Given the description of an element on the screen output the (x, y) to click on. 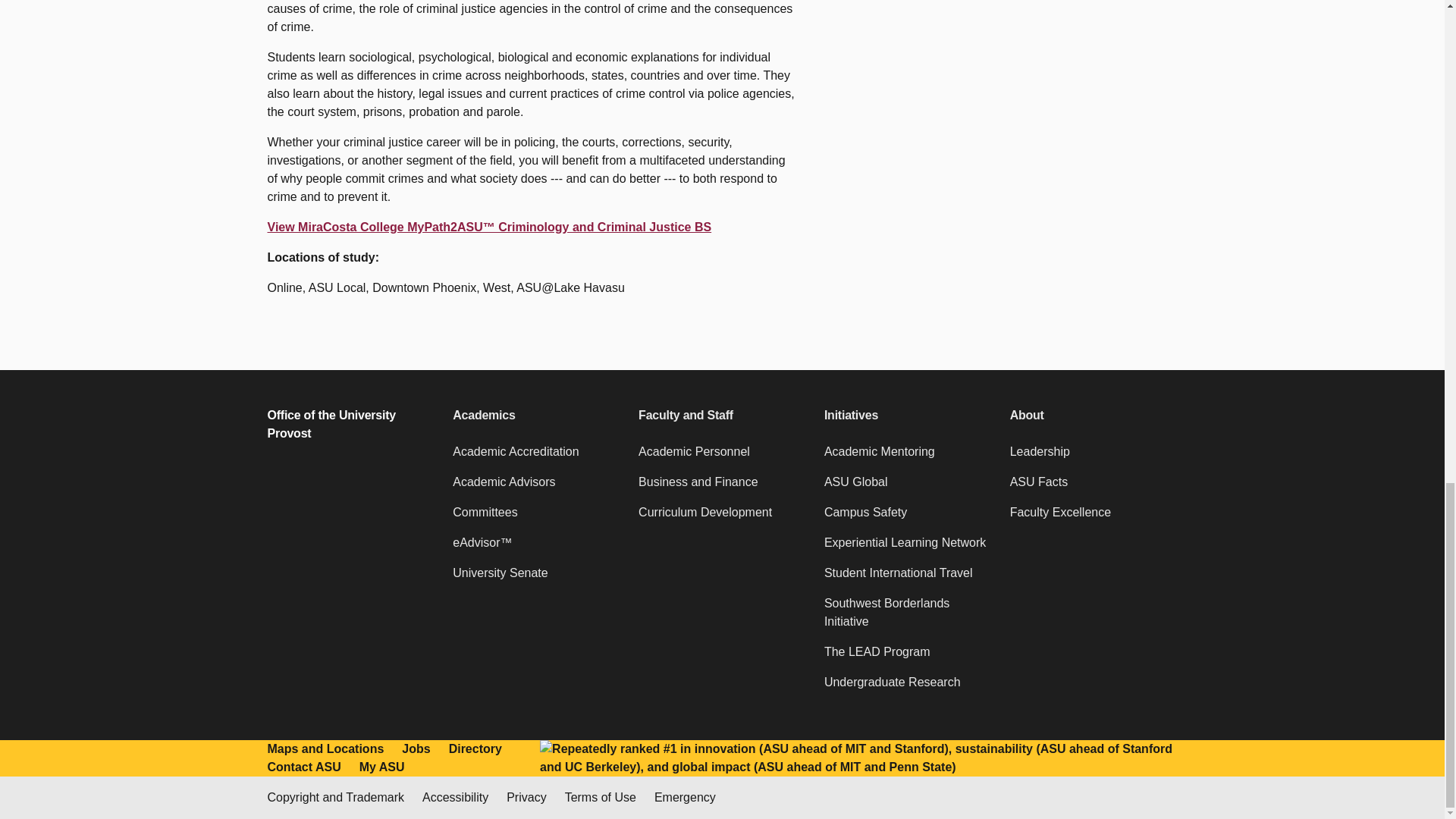
Copyright and Trademark (335, 797)
Curriculum Development (722, 518)
Academic Accreditation (536, 458)
Undergraduate Research (907, 688)
Academics (536, 415)
Leadership (1093, 458)
Business and Finance (722, 488)
About (1093, 415)
Campus Safety (907, 518)
Experiential Learning Network (907, 548)
